Given the description of an element on the screen output the (x, y) to click on. 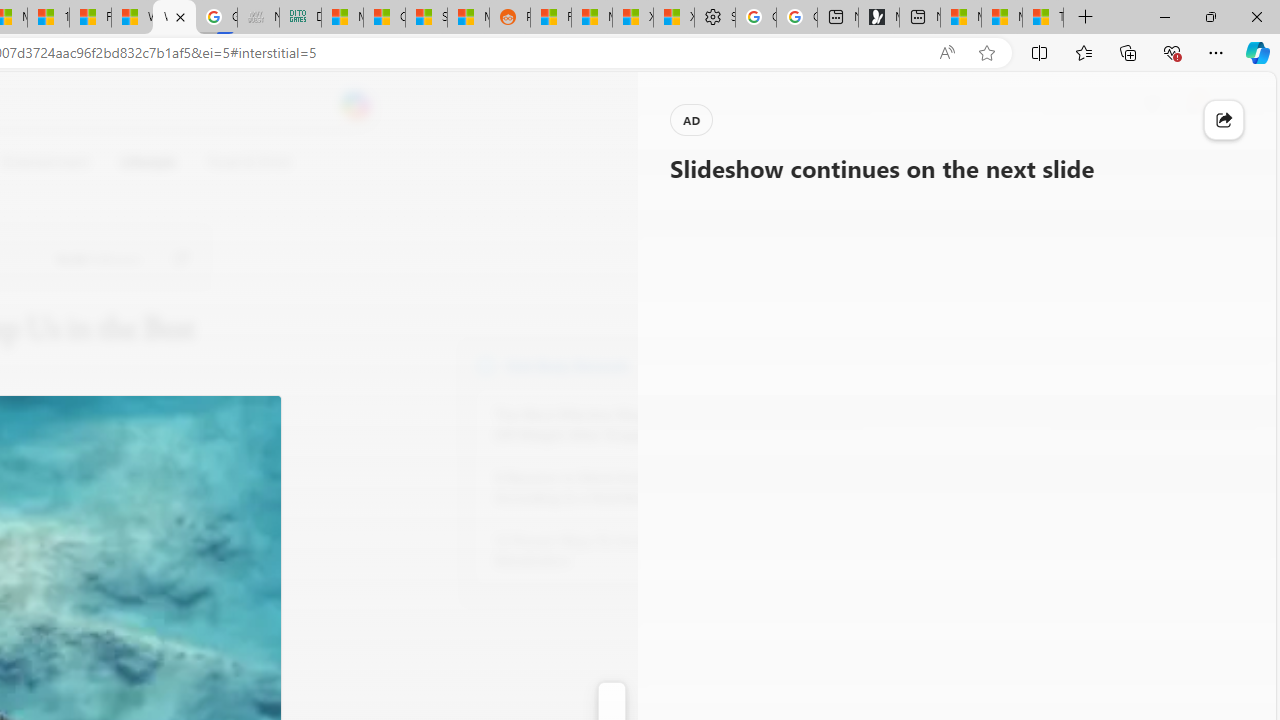
12 Proven Ways To Increase Your Metabolism (603, 550)
Fitness - MSN (90, 17)
